Given the description of an element on the screen output the (x, y) to click on. 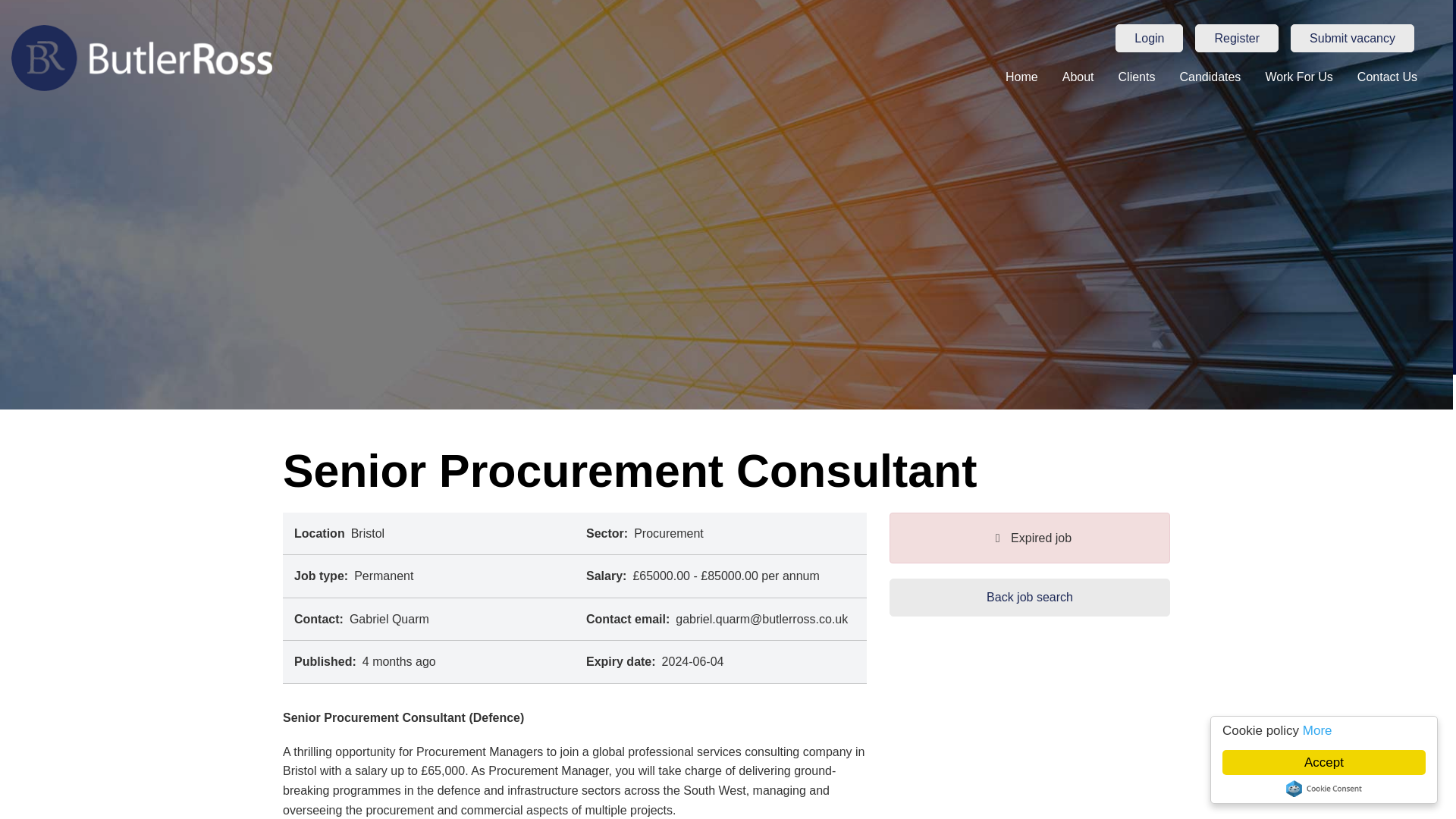
Accept (1339, 762)
More (1331, 730)
Cookie Consent plugin for the EU cookie law (1337, 788)
